Given the description of an element on the screen output the (x, y) to click on. 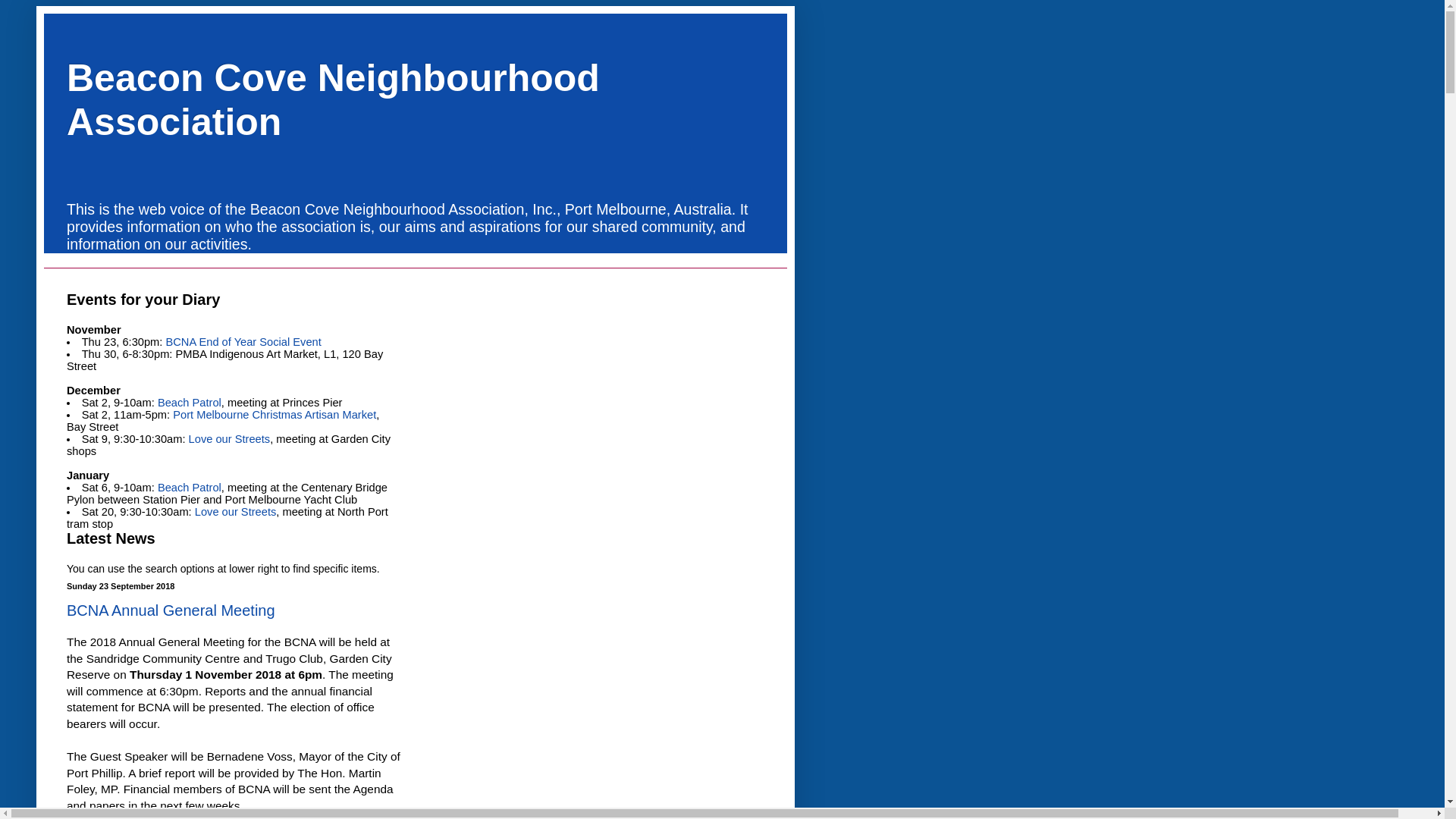
Love our Streets Element type: text (235, 511)
Love our Streets Element type: text (229, 439)
BCNA Annual General Meeting Element type: text (170, 610)
Port Melbourne Christmas Artisan Market Element type: text (274, 414)
Beach Patrol Element type: text (189, 402)
BCNA End of Year Social Event Element type: text (242, 341)
Beach Patrol Element type: text (189, 487)
Beacon Cove Neighbourhood Association Element type: text (332, 99)
